Given the description of an element on the screen output the (x, y) to click on. 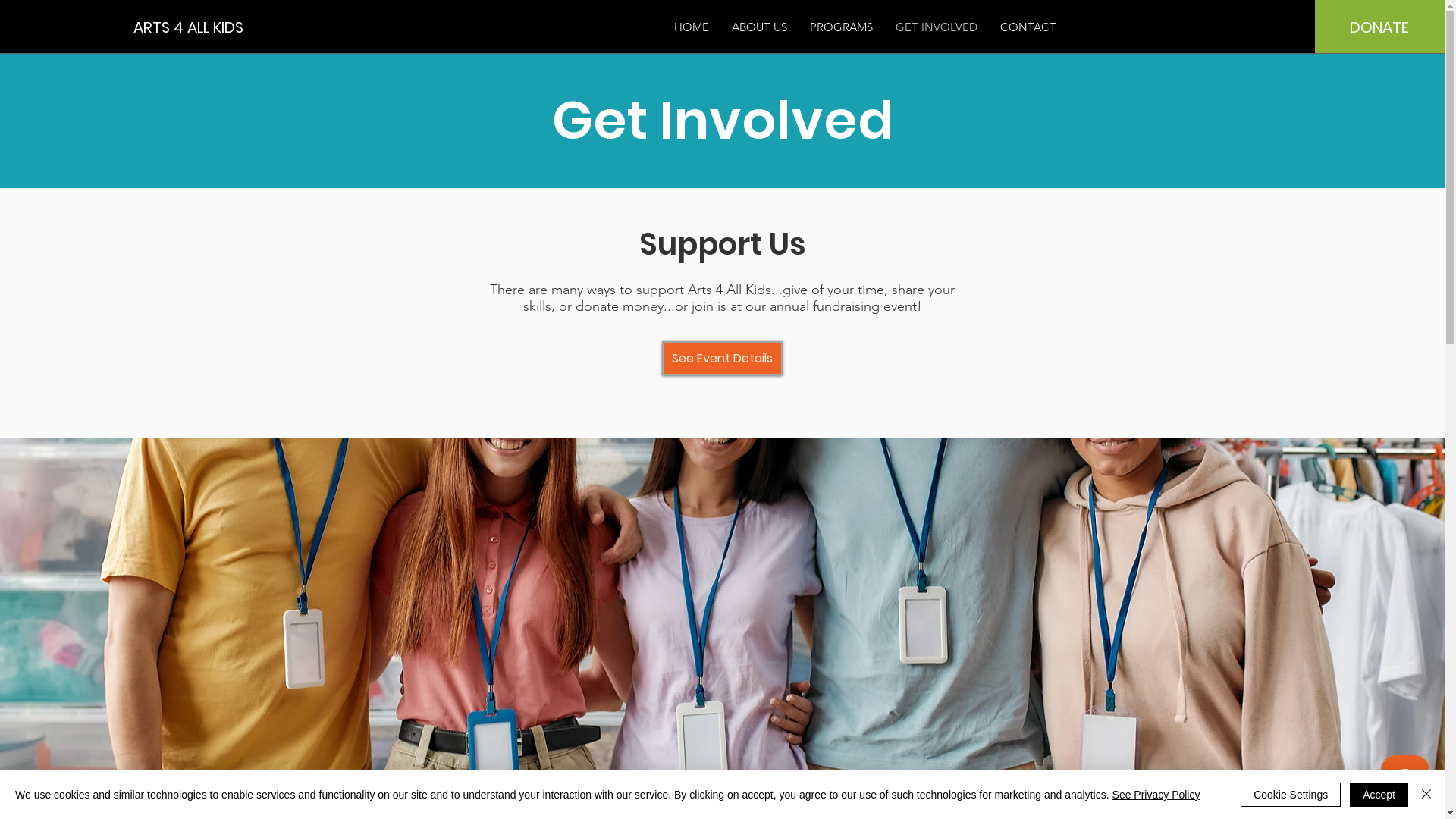
DONATE Element type: text (1378, 27)
Accept Element type: text (1378, 794)
GET INVOLVED Element type: text (936, 27)
See Event Details Element type: text (721, 358)
PROGRAMS Element type: text (841, 27)
Cookie Settings Element type: text (1290, 794)
ABOUT US Element type: text (759, 27)
HOME Element type: text (691, 27)
CONTACT Element type: text (1027, 27)
ARTS 4 ALL KIDS Element type: text (201, 26)
See Privacy Policy Element type: text (1156, 794)
